Given the description of an element on the screen output the (x, y) to click on. 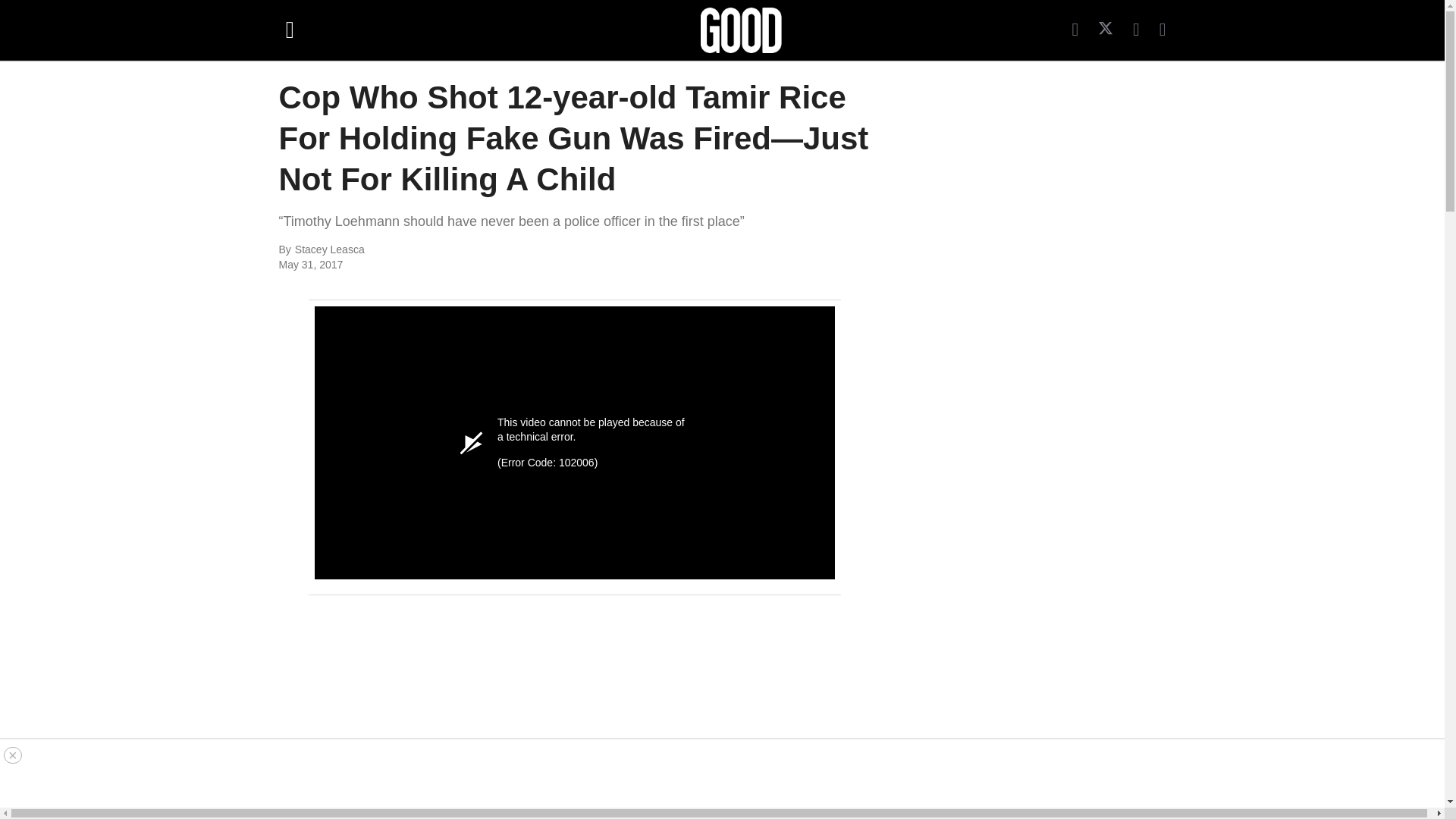
Stacey Leasca (459, 249)
